Given the description of an element on the screen output the (x, y) to click on. 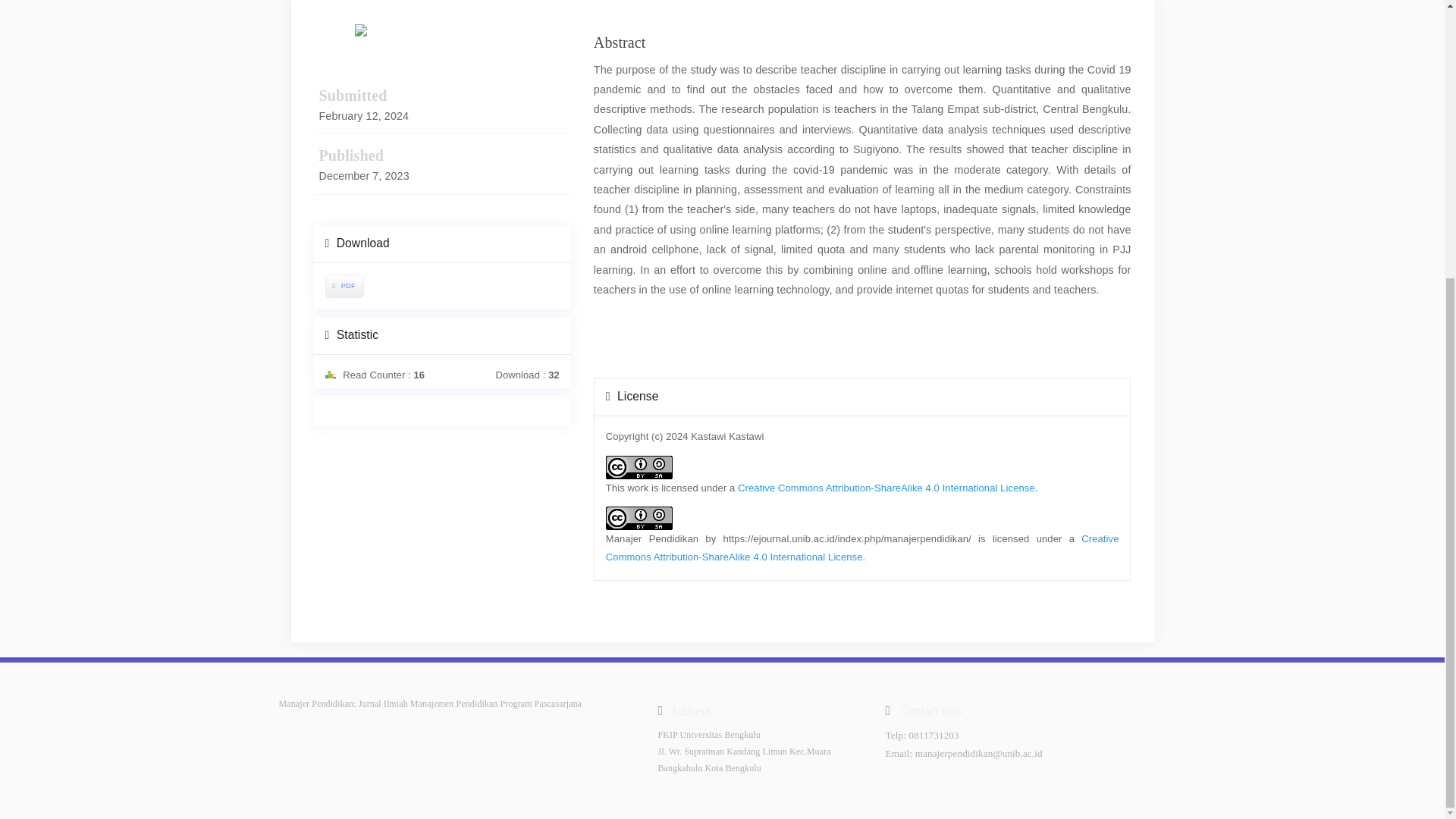
PDF (343, 286)
Download on article page (343, 285)
